Given the description of an element on the screen output the (x, y) to click on. 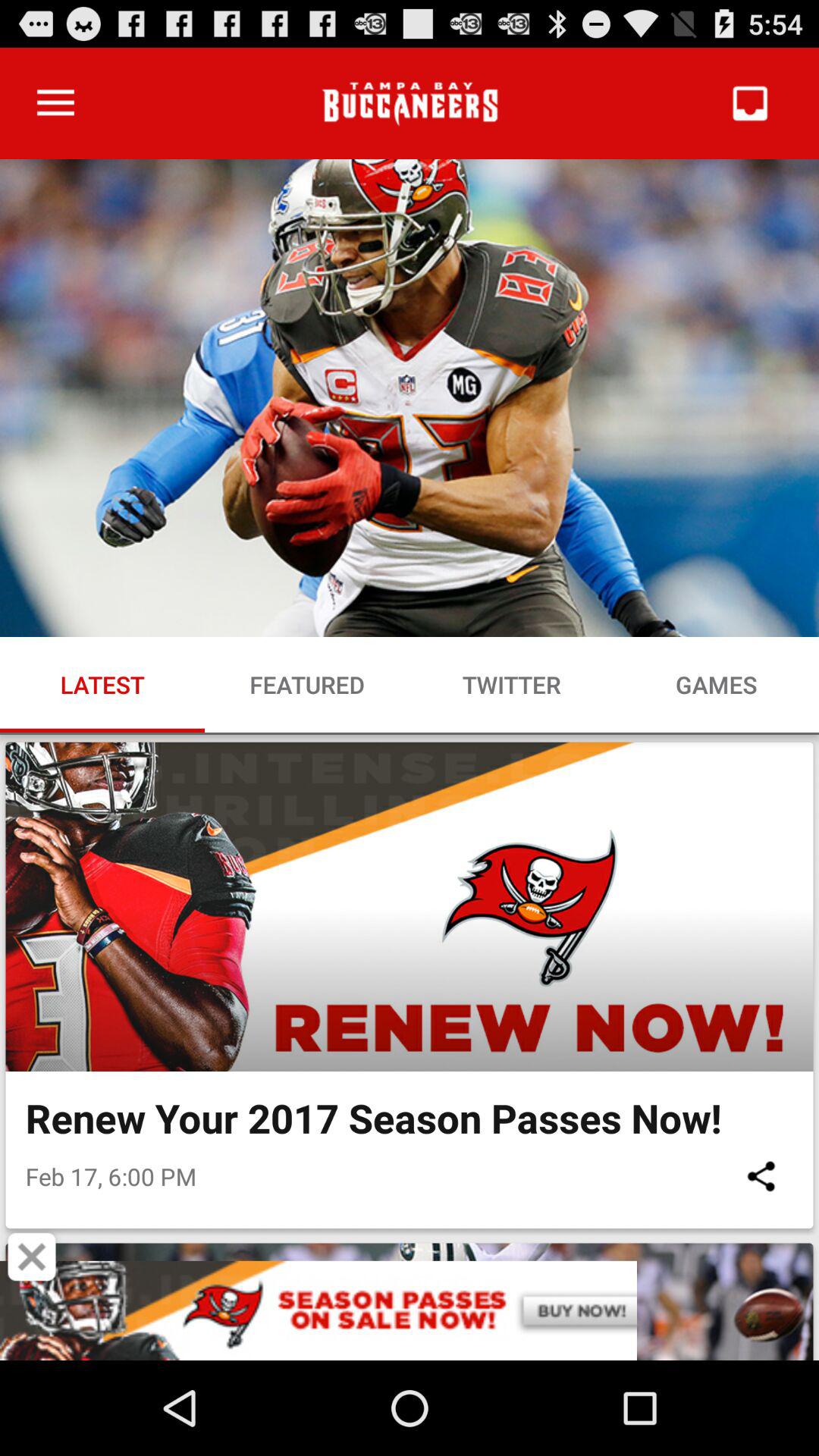
select the icon next to the feb 17 6 (761, 1176)
